Given the description of an element on the screen output the (x, y) to click on. 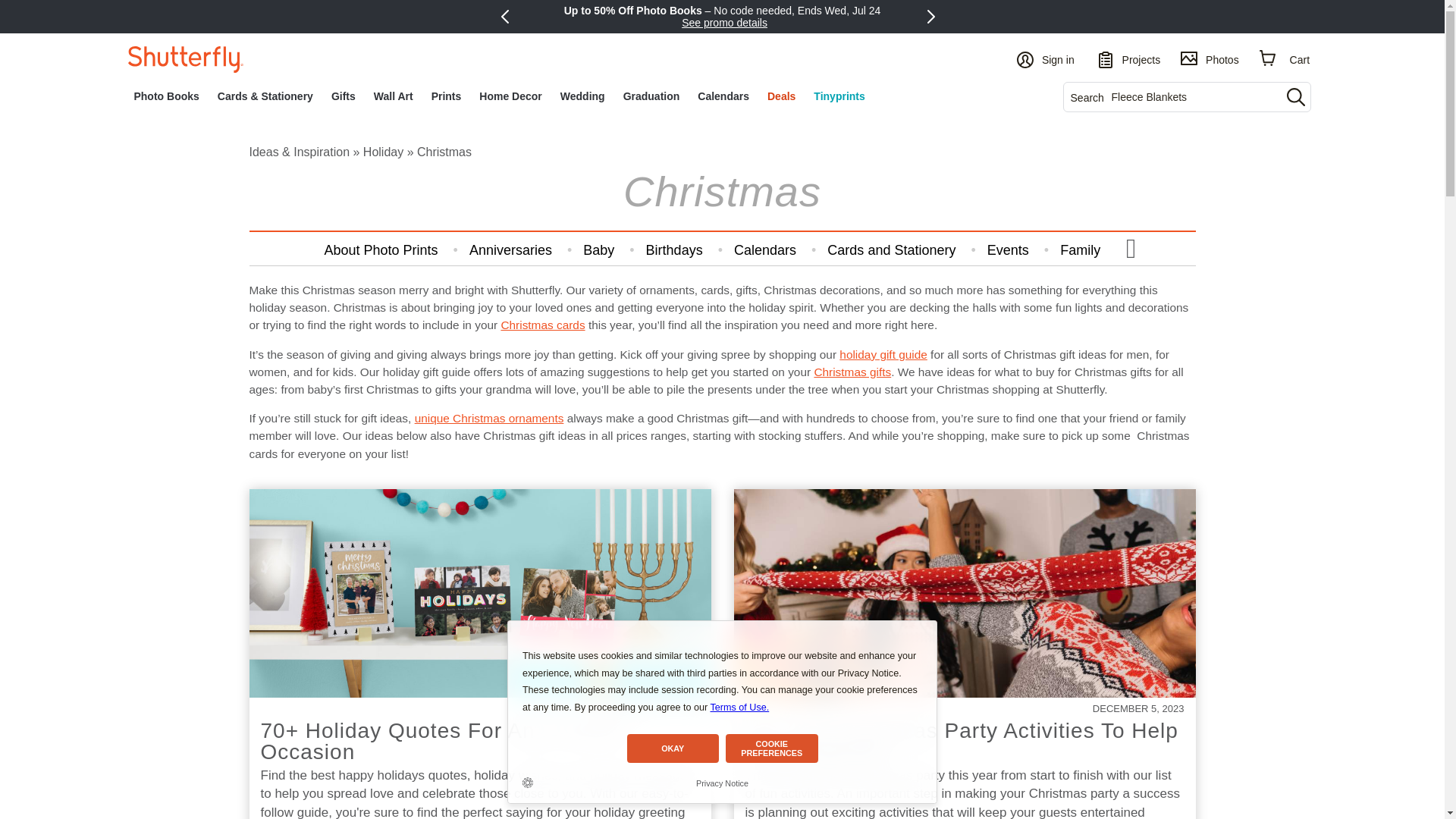
Photos (1209, 57)
Sign in (1045, 58)
Photo Books (165, 96)
See promo details (724, 22)
View, organize and edit your photos. (1209, 57)
Cart (1284, 58)
Go to the Shutterfly home page (185, 57)
Go to the Shutterfly home page (185, 58)
Projects (1128, 57)
